Given the description of an element on the screen output the (x, y) to click on. 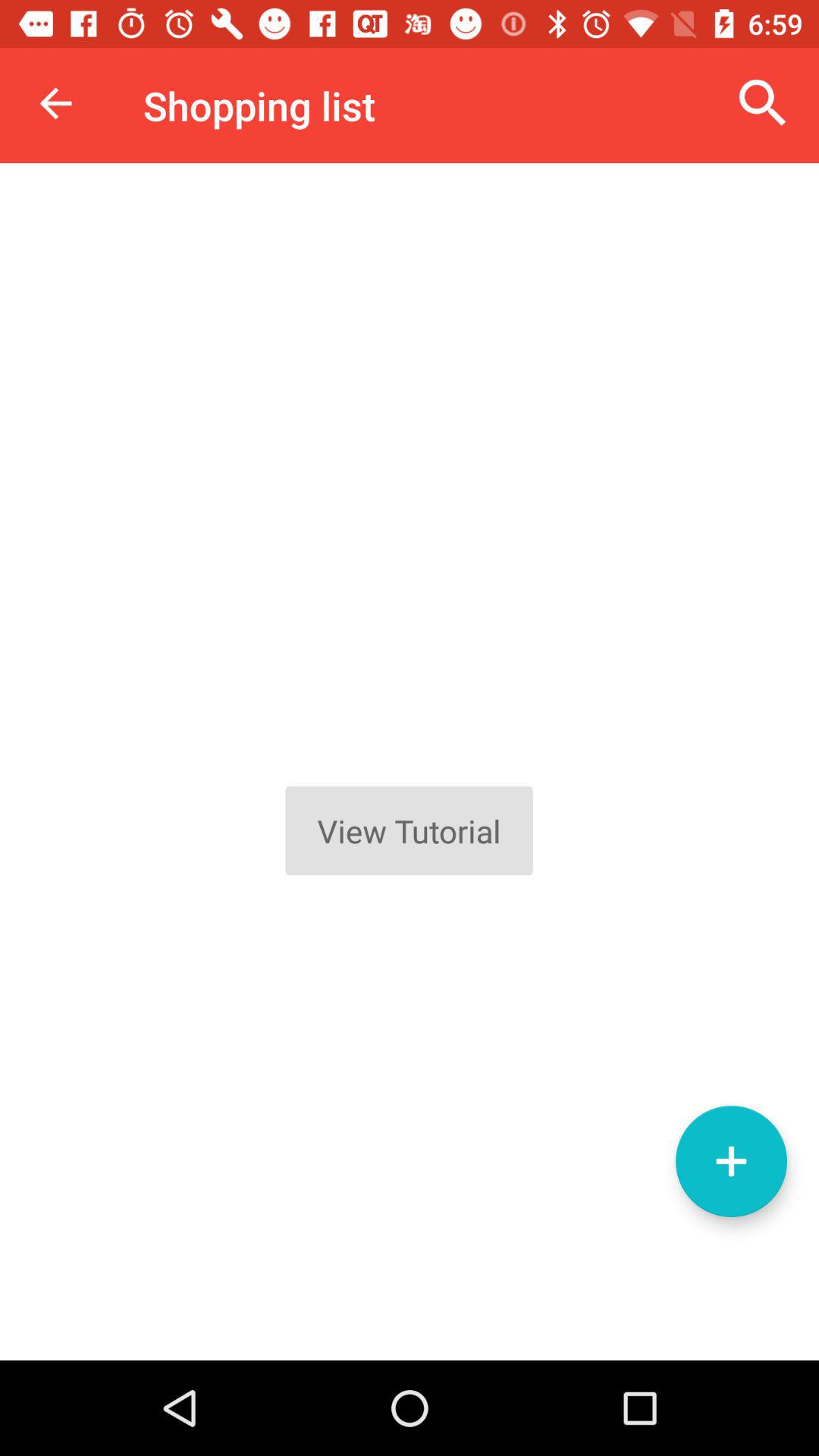
view the tutorial (409, 761)
